Given the description of an element on the screen output the (x, y) to click on. 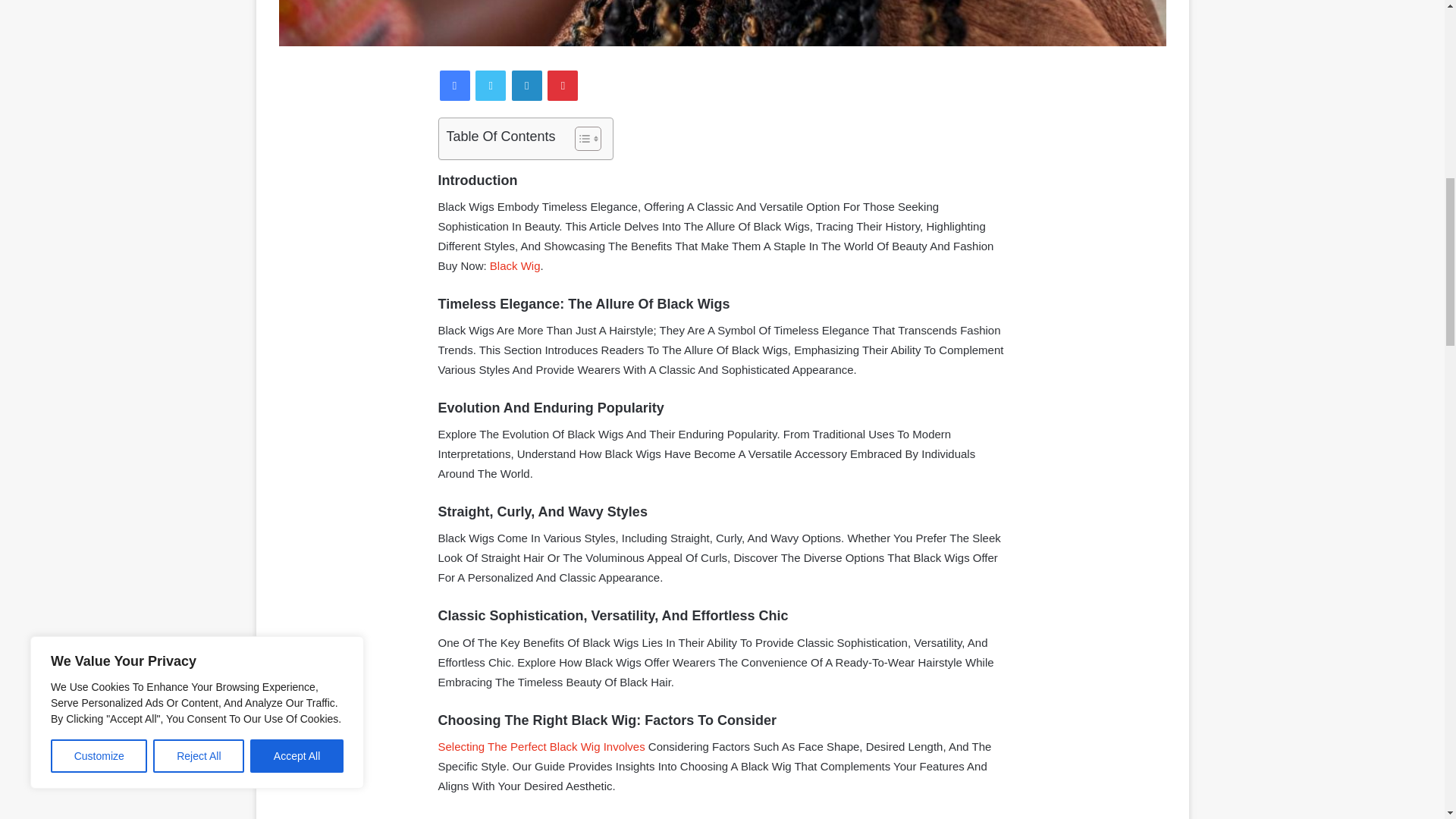
Pinterest (562, 85)
LinkedIn (526, 85)
Twitter (490, 85)
Facebook (454, 85)
Twitter (490, 85)
Facebook (454, 85)
Pinterest (562, 85)
LinkedIn (526, 85)
